Given the description of an element on the screen output the (x, y) to click on. 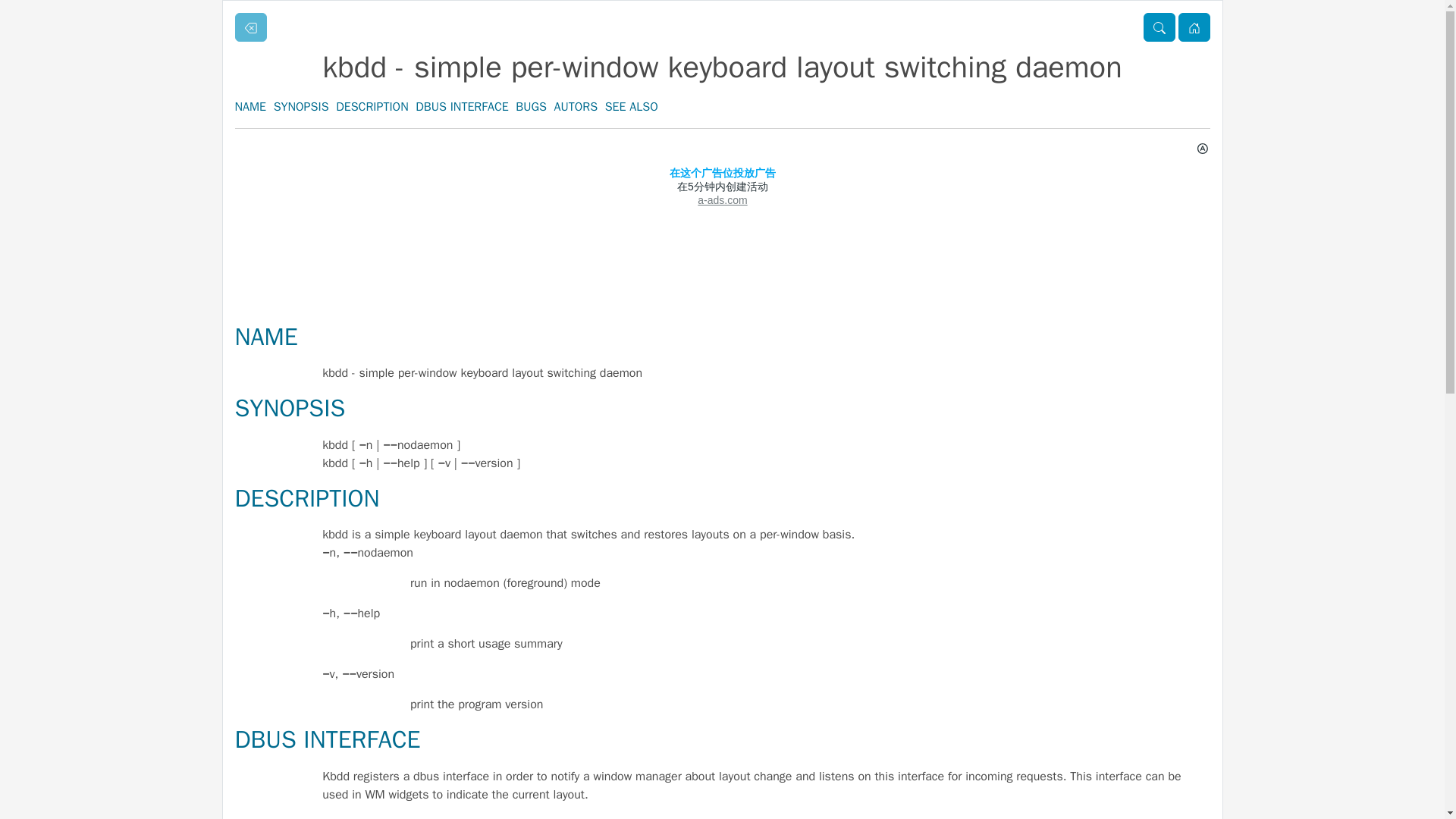
NAME (266, 336)
Back home (1193, 27)
ads (721, 185)
SYNOPSIS (301, 106)
BUGS (531, 106)
Advertisement (721, 276)
DESCRIPTION (372, 106)
DBUS INTERFACE (461, 106)
SYNOPSIS (290, 408)
SEE ALSO (631, 106)
DBUS INTERFACE (327, 739)
Back (250, 27)
AUTORS (576, 106)
Section 1 (1158, 27)
DESCRIPTION (307, 498)
